Given the description of an element on the screen output the (x, y) to click on. 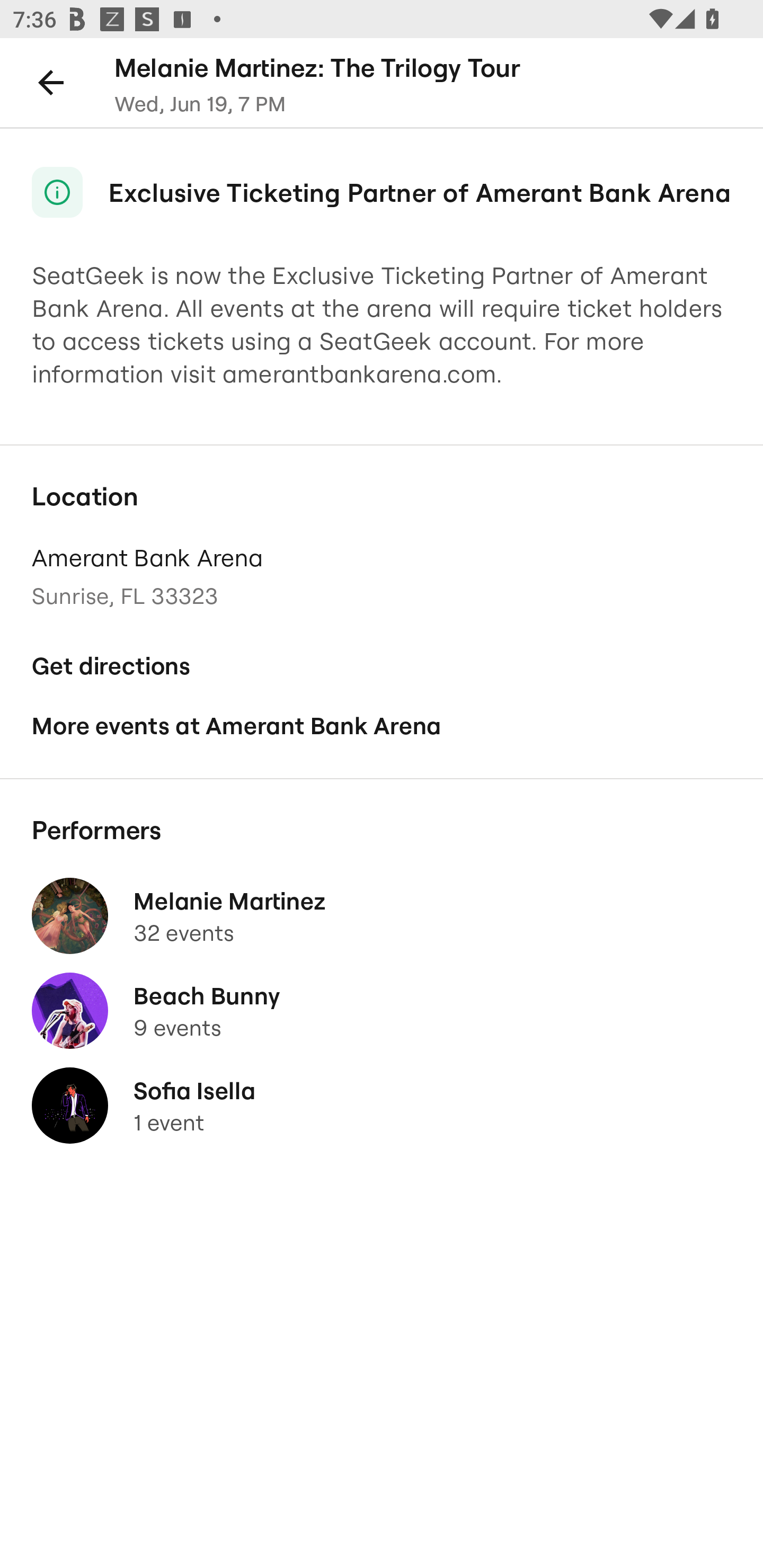
Back (50, 81)
Get directions (381, 666)
More events at Amerant Bank Arena (381, 725)
Melanie Martinez 32 events (381, 916)
Beach Bunny 9 events (381, 1011)
Sofia Isella 1 event (381, 1105)
